Given the description of an element on the screen output the (x, y) to click on. 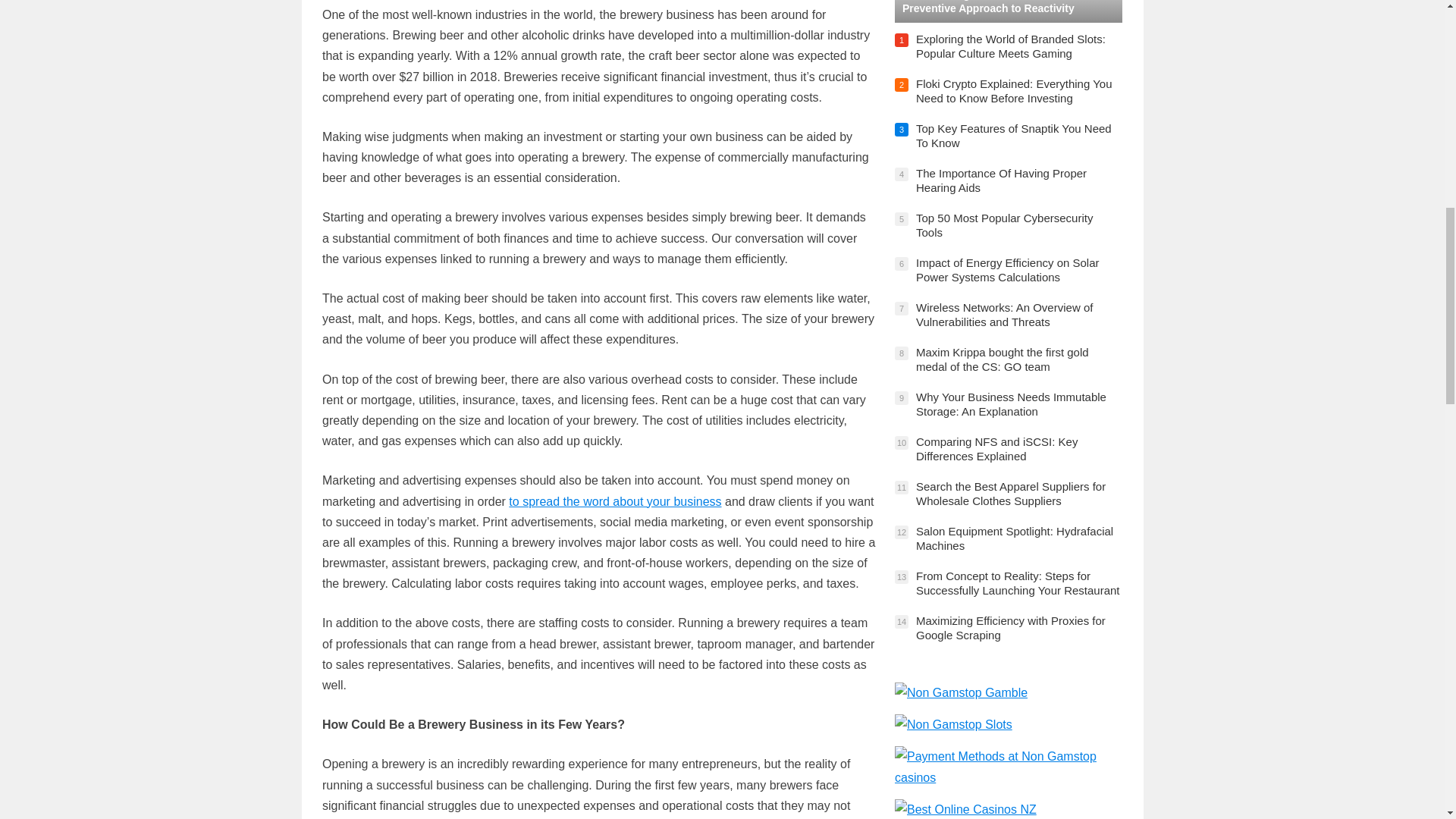
Best Online Casinos NZ (965, 809)
Payment Methods at Non Gamstop casinos (1008, 777)
Non Gamstop Gamble (961, 692)
Non Gamstop Slots (953, 724)
